Given the description of an element on the screen output the (x, y) to click on. 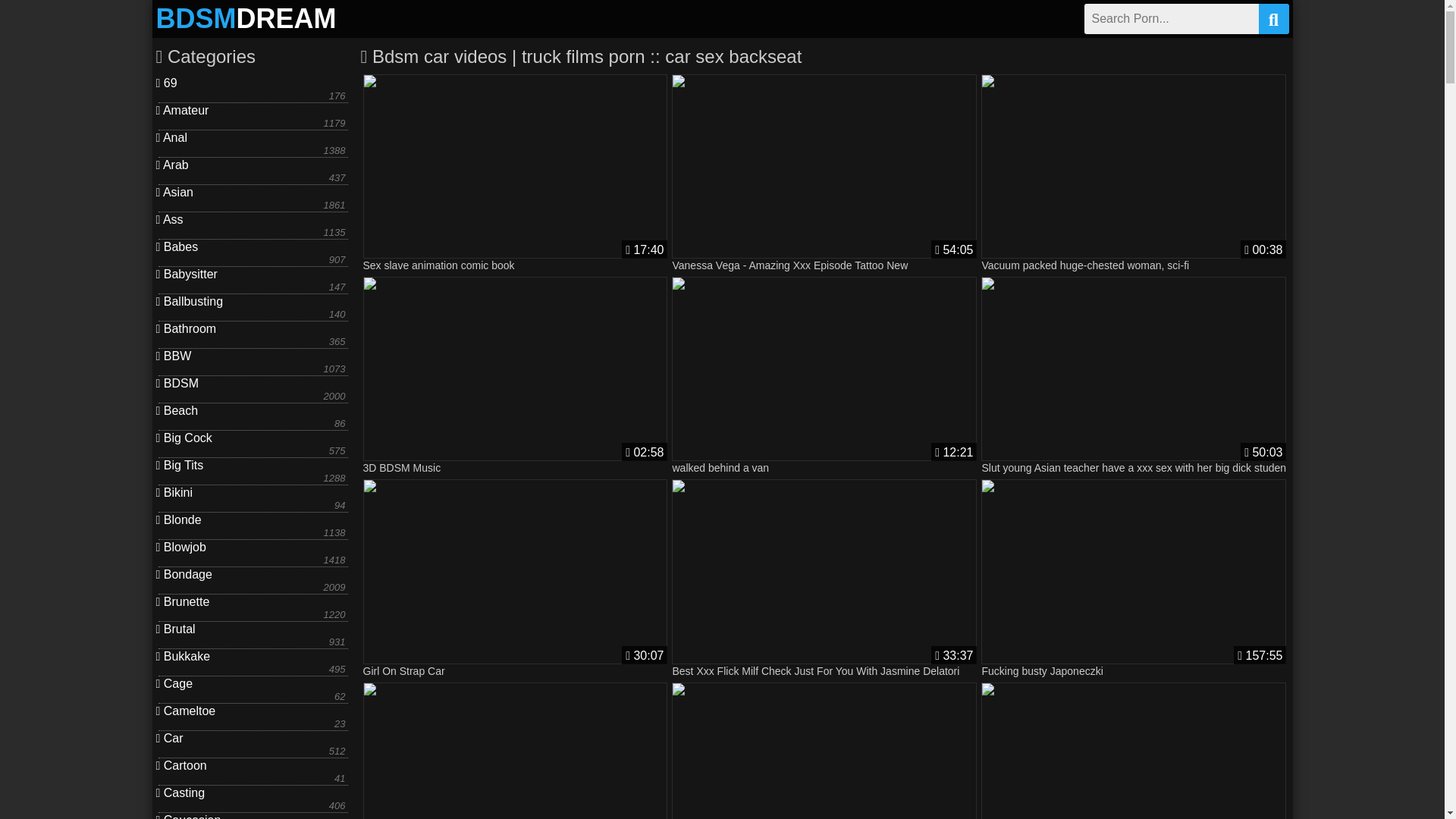
BDSMDREAM (245, 19)
